Given the description of an element on the screen output the (x, y) to click on. 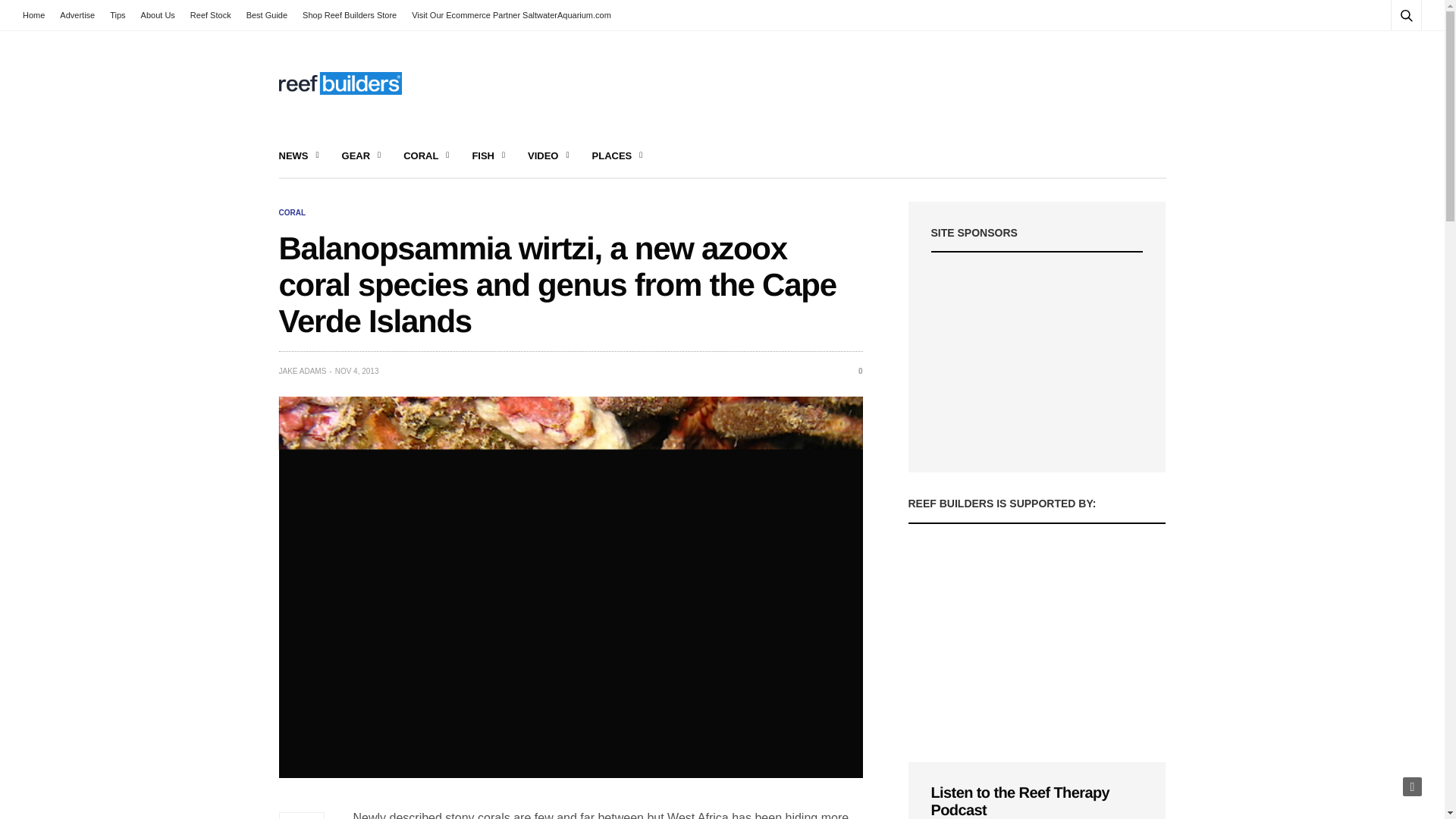
Tips (116, 15)
Coral (292, 213)
NEWS (298, 156)
Shop Reef Builders Store (349, 15)
Home (37, 15)
Best Guide (266, 15)
GEAR (361, 156)
Advertise (76, 15)
Reef Stock (210, 15)
